Given the description of an element on the screen output the (x, y) to click on. 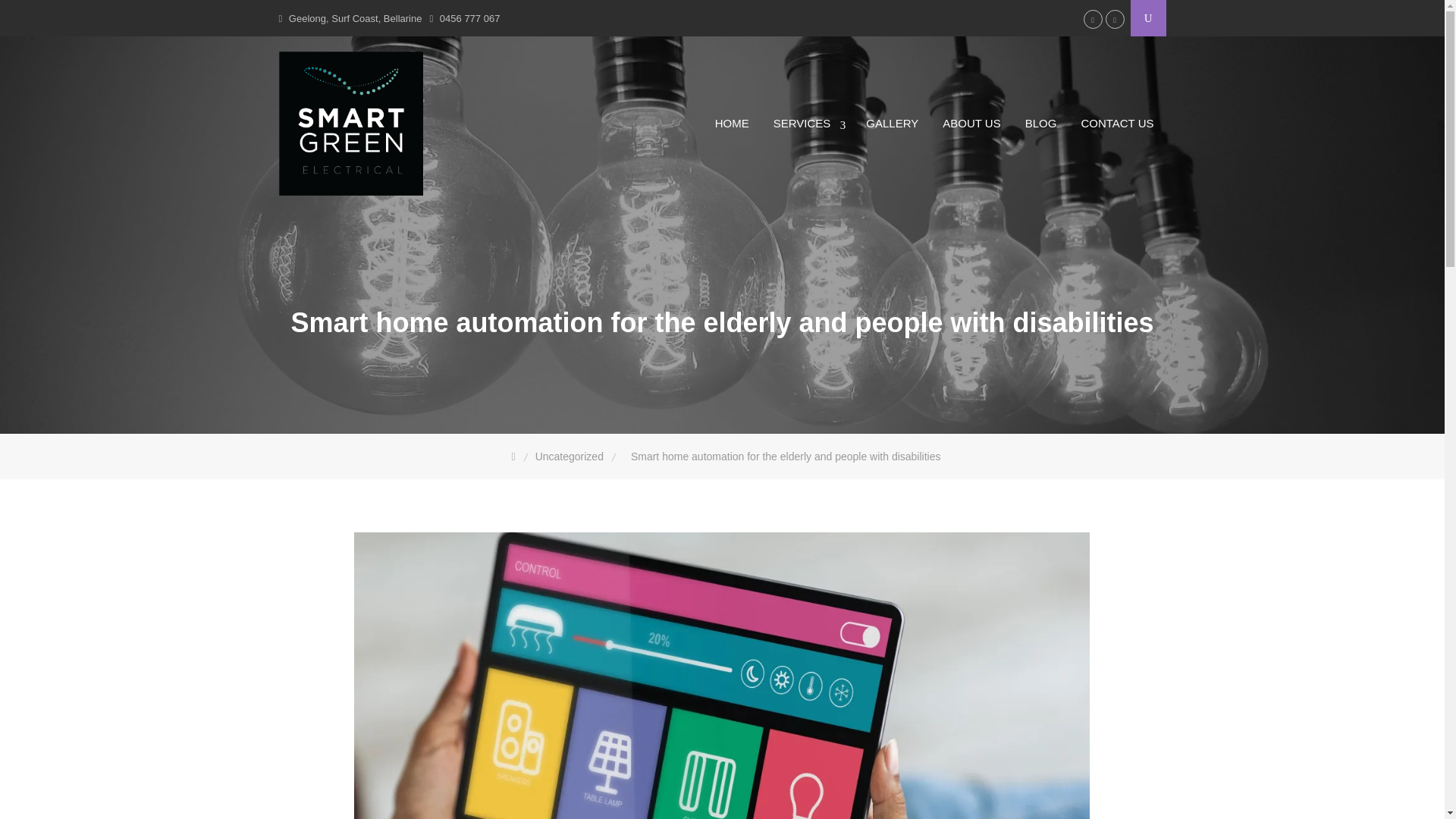
Facebook (1114, 18)
Search (49, 15)
Instagram (1092, 18)
0456 777 067 (469, 18)
